Given the description of an element on the screen output the (x, y) to click on. 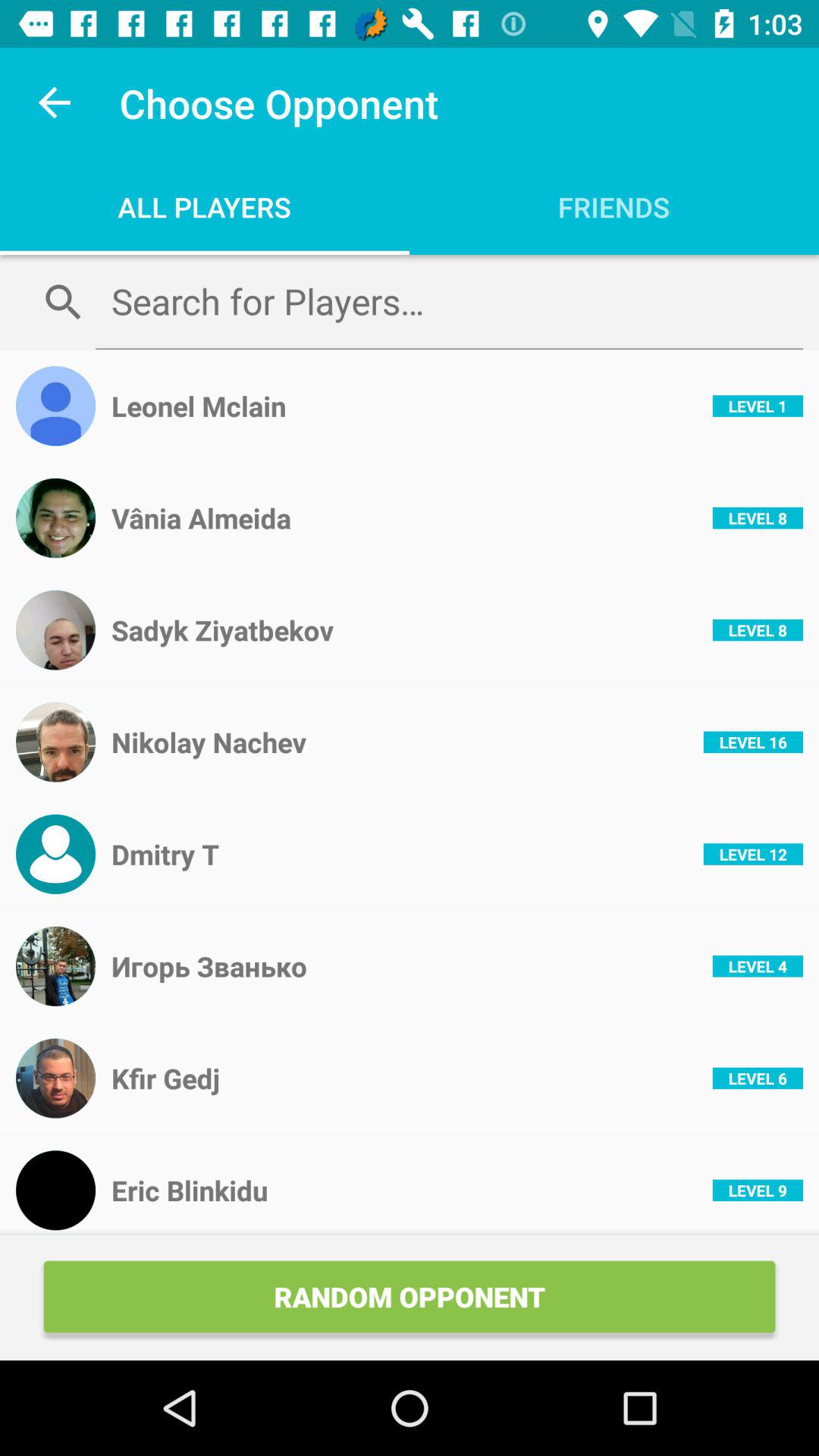
search for active players (449, 301)
